Given the description of an element on the screen output the (x, y) to click on. 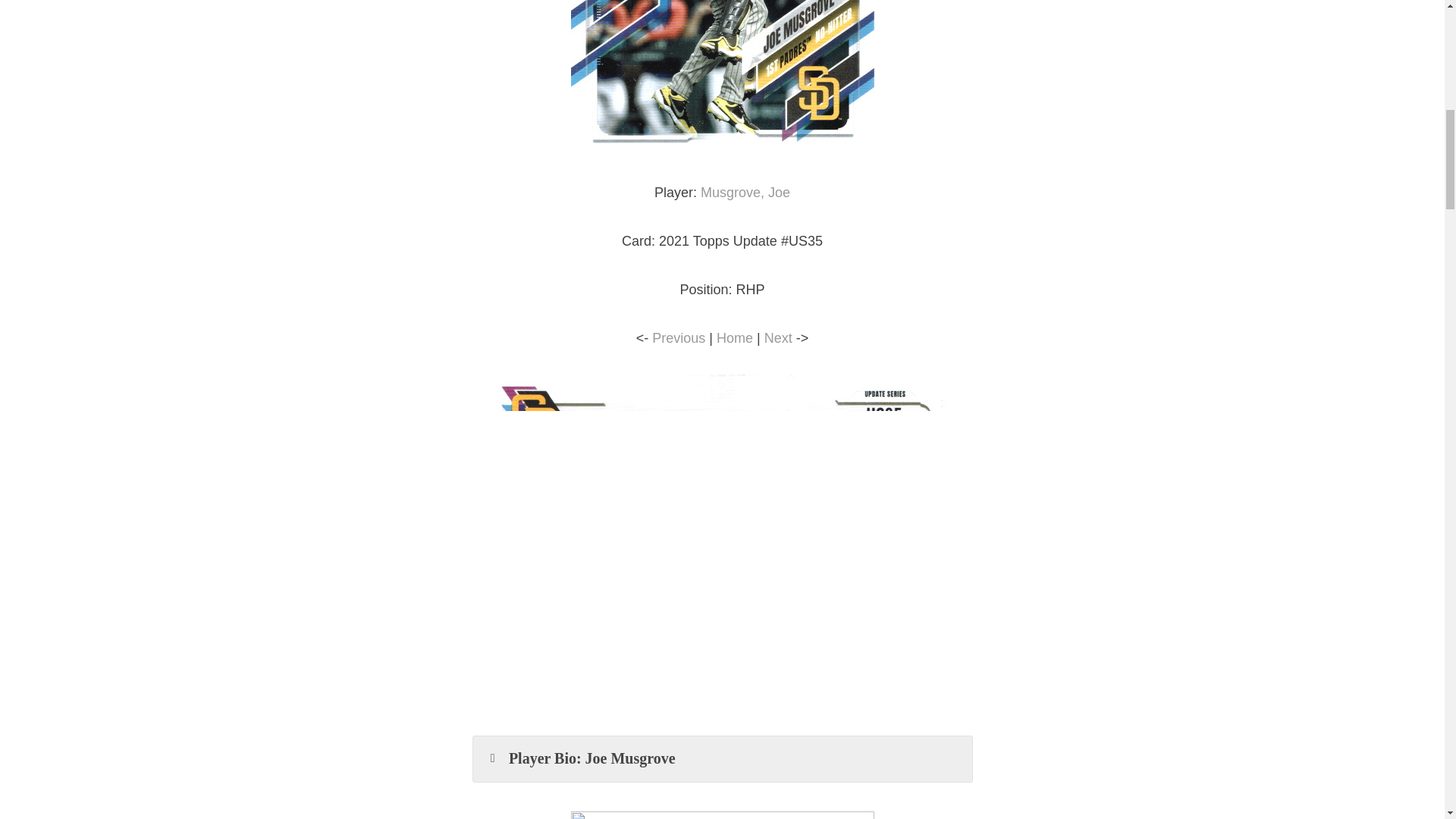
Home (734, 338)
Next (778, 338)
Musgrove, Joe (745, 193)
Player Bio: Joe Musgrove (722, 759)
Previous (678, 338)
